Given the description of an element on the screen output the (x, y) to click on. 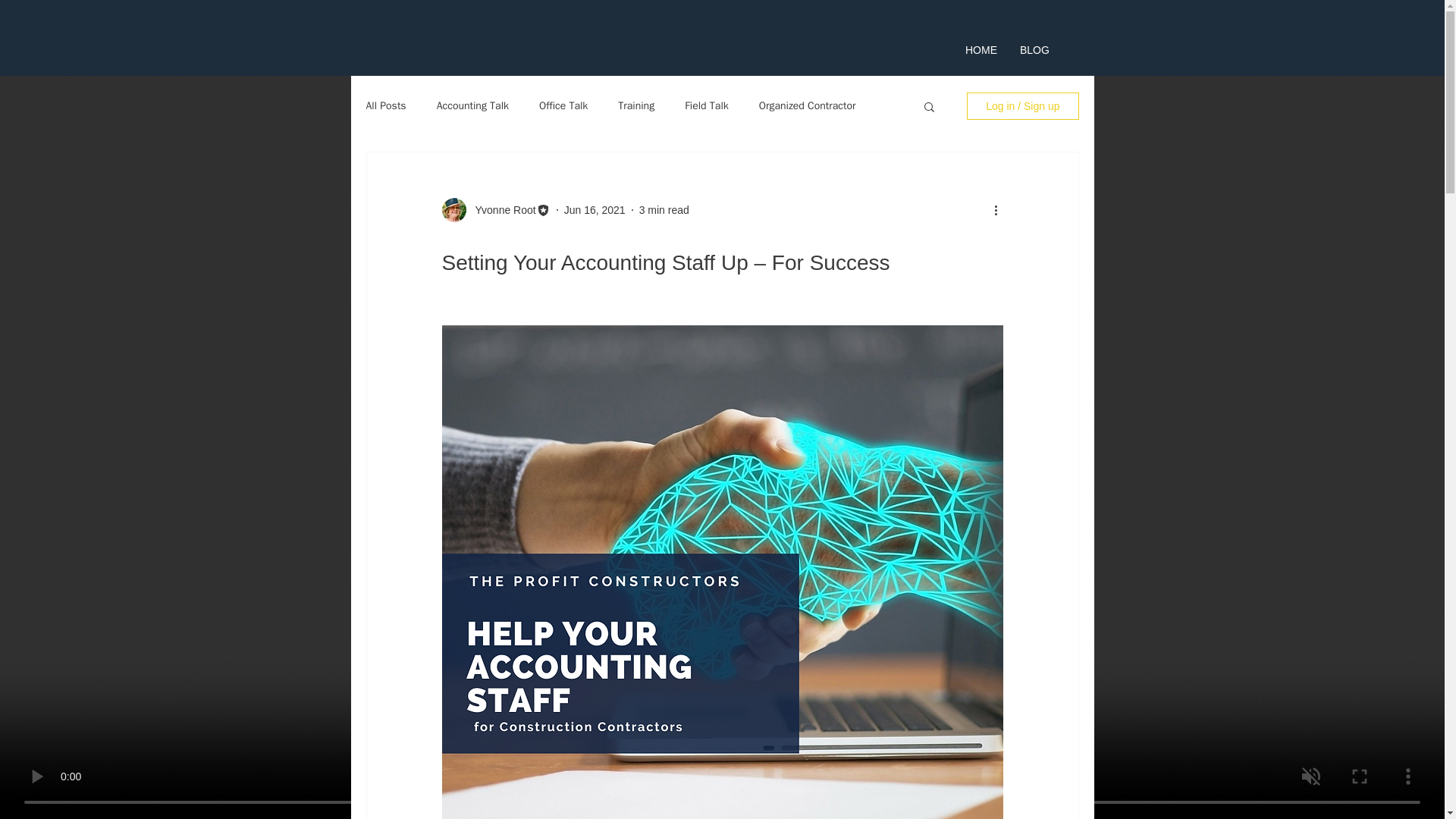
All Posts (385, 106)
3 min read (663, 209)
Yvonne Root (500, 209)
HOME (981, 50)
Organized Contractor (807, 106)
BLOG (1035, 50)
Field Talk (706, 106)
Office Talk (563, 106)
Jun 16, 2021 (595, 209)
Accounting Talk (472, 106)
